Given the description of an element on the screen output the (x, y) to click on. 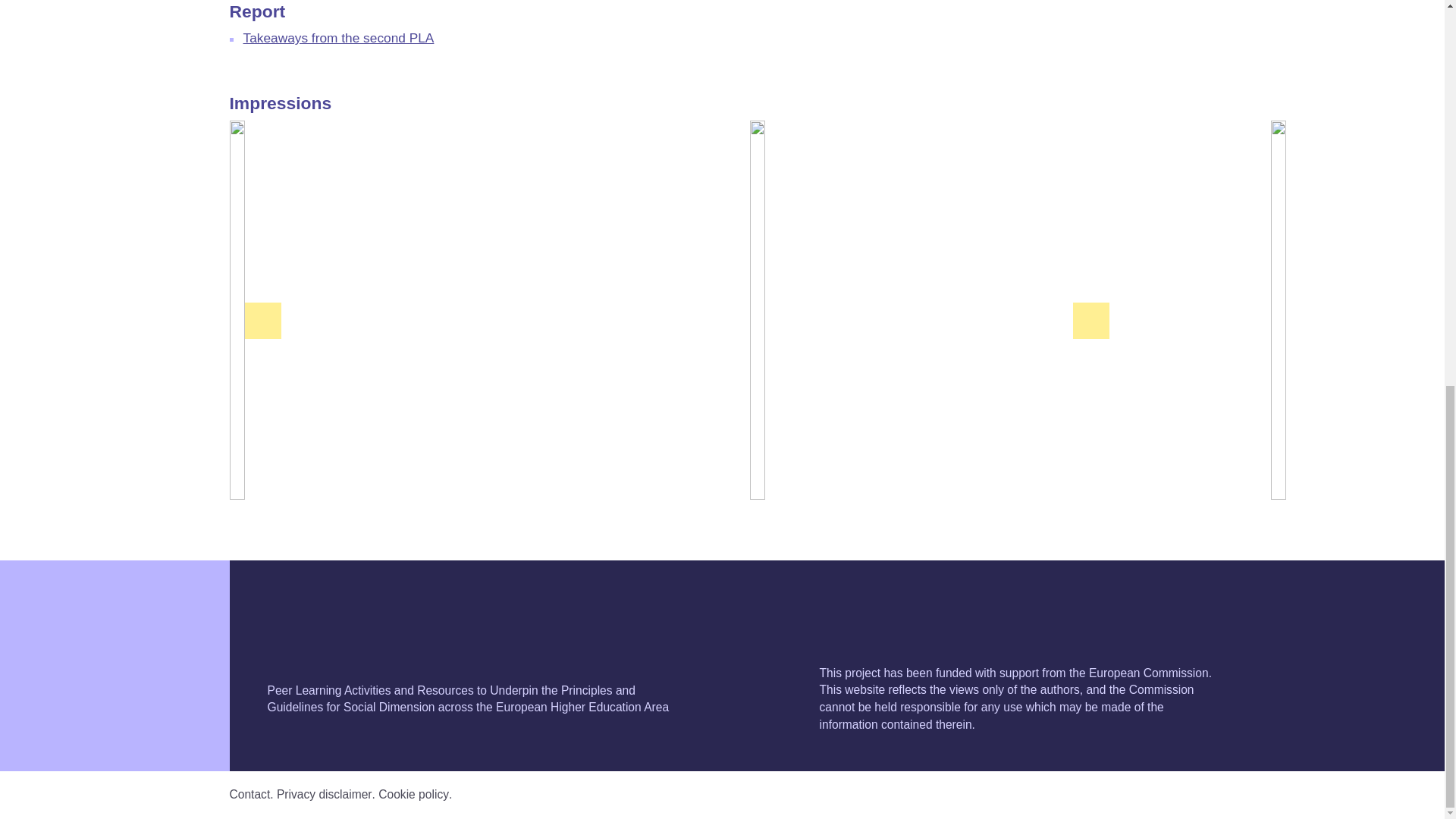
Cookie policy (413, 793)
twitter (1170, 793)
Privacy disclaimer (324, 793)
Contact (248, 793)
linkedin (1205, 793)
Takeaways from the second PLA (338, 37)
